Given the description of an element on the screen output the (x, y) to click on. 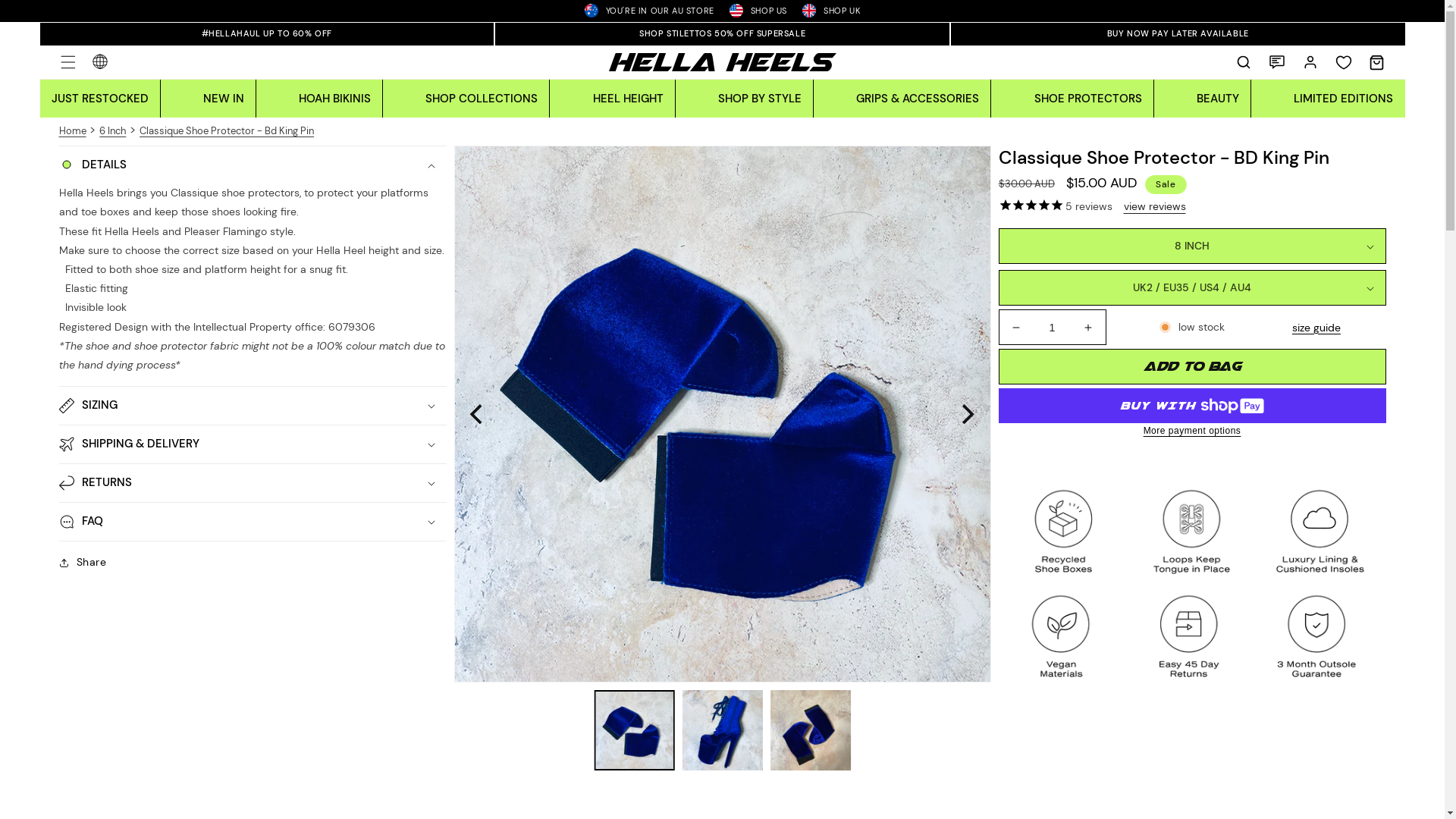
More payment options Element type: text (1191, 430)
/pages/shipping-and-delivery Element type: hover (83, 586)
ADD TO BAG Element type: text (1191, 366)
Home Element type: text (72, 130)
https://www.facebook.com/groups/914324689342291 Element type: hover (148, 549)
#HELLAHAUL UP TO 60% OFF Element type: text (266, 33)
Decrease quantity for Classique Shoe Protector - BD King Pin Element type: text (1016, 327)
BUY NOW PAY LATER AVAILABLE Element type: text (1177, 33)
SHOP COLLECTIONS Element type: text (481, 98)
SIZE GUIDE Element type: hover (230, 433)
size guide Element type: text (1321, 327)
/pages/returns Element type: hover (211, 510)
SHOE PROTECTORS Element type: text (1087, 98)
Classique Shoe Protector - Bd King Pin Element type: text (226, 130)
HEEL HEIGHT Element type: text (627, 98)
SHOP UK Element type: text (830, 10)
NEW IN Element type: text (223, 98)
Bag Element type: text (1376, 61)
/pages/faqs Element type: hover (165, 588)
Increase quantity for Classique Shoe Protector - BD King Pin Element type: text (1087, 327)
Log in Element type: text (1310, 61)
BEAUTY Element type: text (1217, 98)
LIMITED EDITIONS Element type: text (1343, 98)
view reviews Element type: text (1154, 206)
SHOP STILETTOS 50% OFF SUPERSALE Element type: text (722, 33)
SHOP US Element type: text (758, 10)
SHOP BY STYLE Element type: text (759, 98)
6 Inch Element type: text (112, 130)
HOAH BIKINIS Element type: text (334, 98)
GRIPS & ACCESSORIES Element type: text (917, 98)
JUST RESTOCKED Element type: text (99, 98)
